Given the description of an element on the screen output the (x, y) to click on. 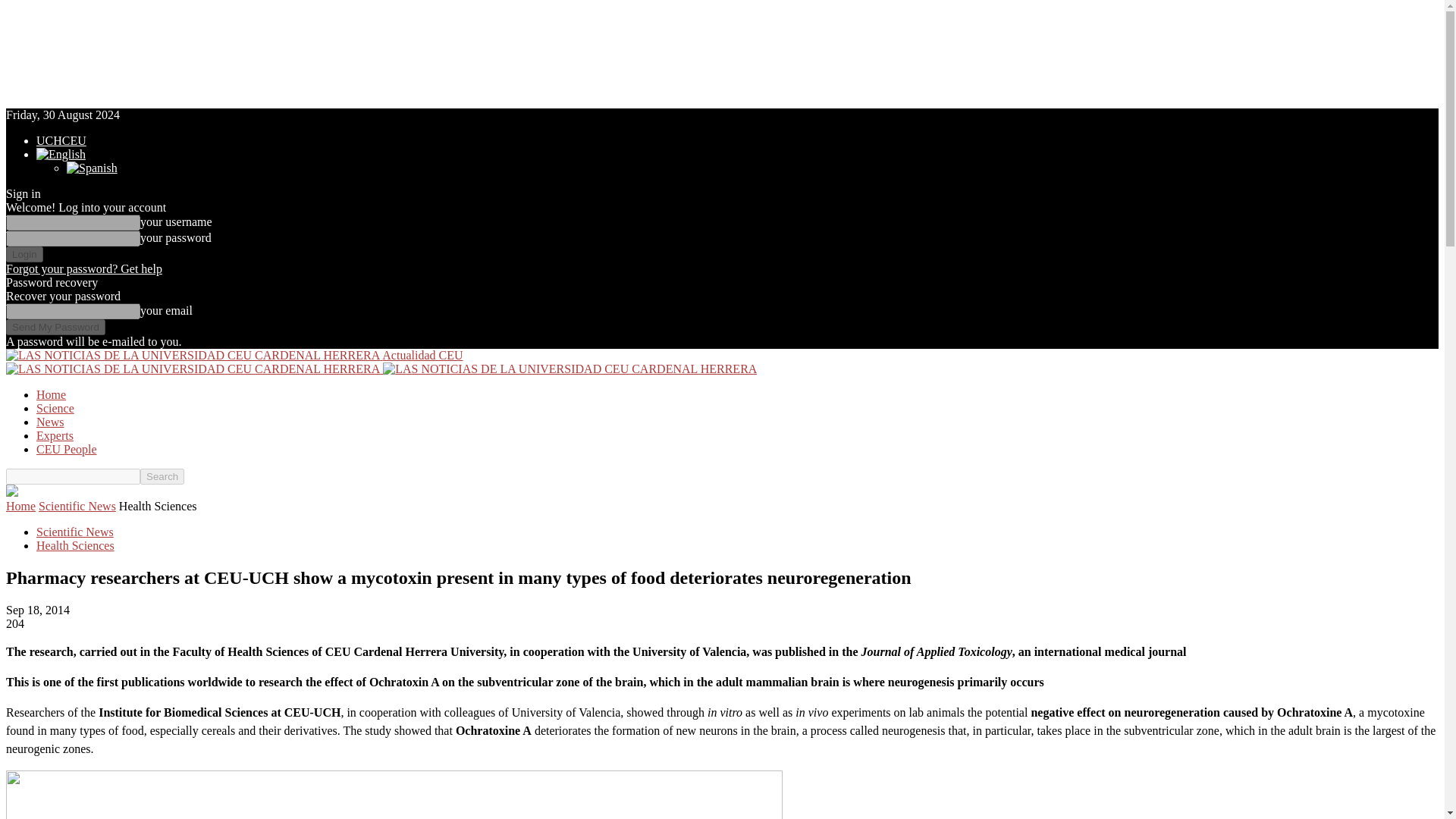
Home (19, 505)
UCHCEU (60, 140)
News (50, 421)
Actualidad CEU (234, 354)
Search (161, 476)
Home (50, 394)
Search (161, 476)
CEU People (66, 449)
Health Sciences (75, 545)
Send My Password (54, 326)
